Given the description of an element on the screen output the (x, y) to click on. 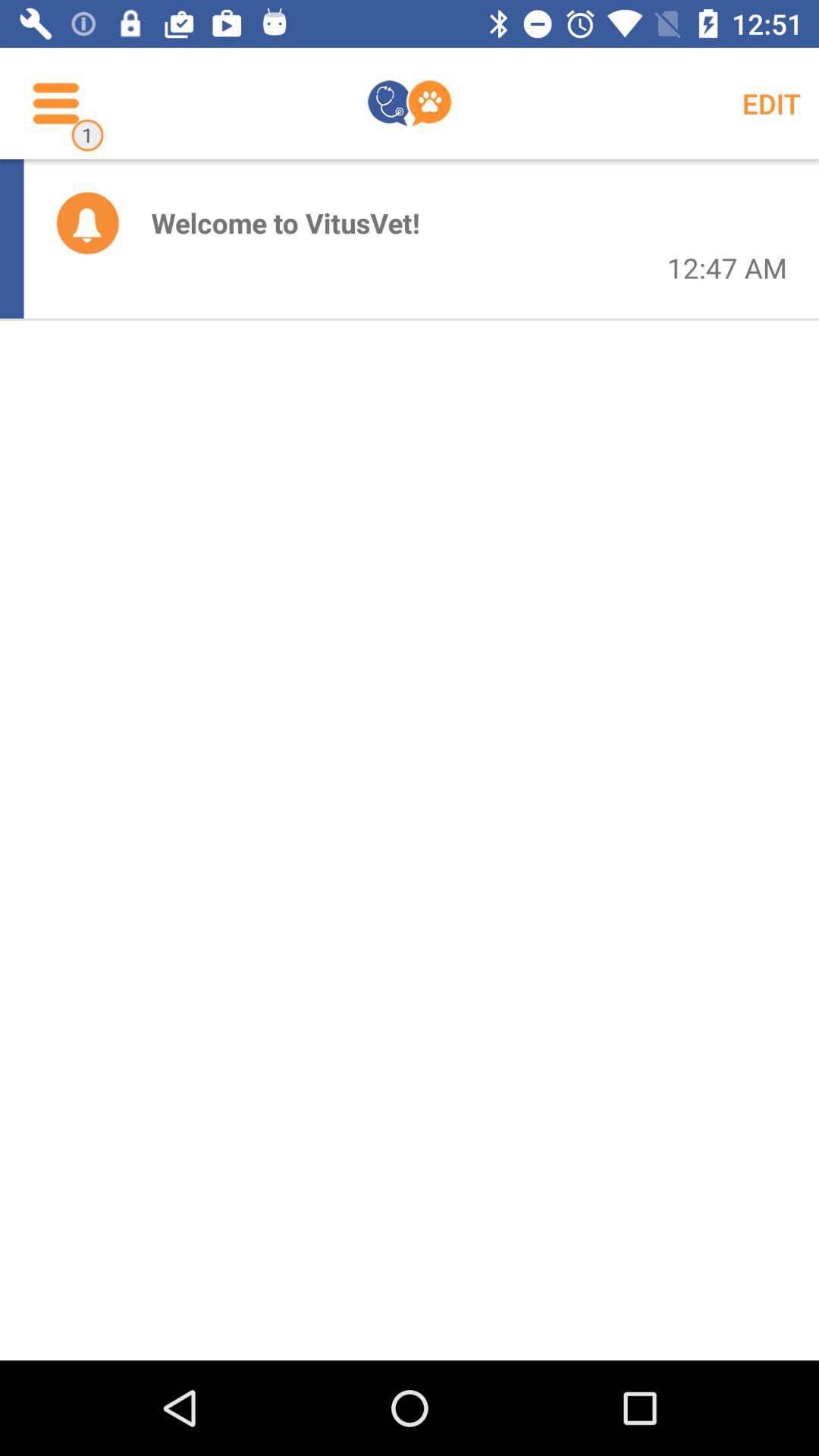
launch icon next to 12:47 am item (285, 222)
